Given the description of an element on the screen output the (x, y) to click on. 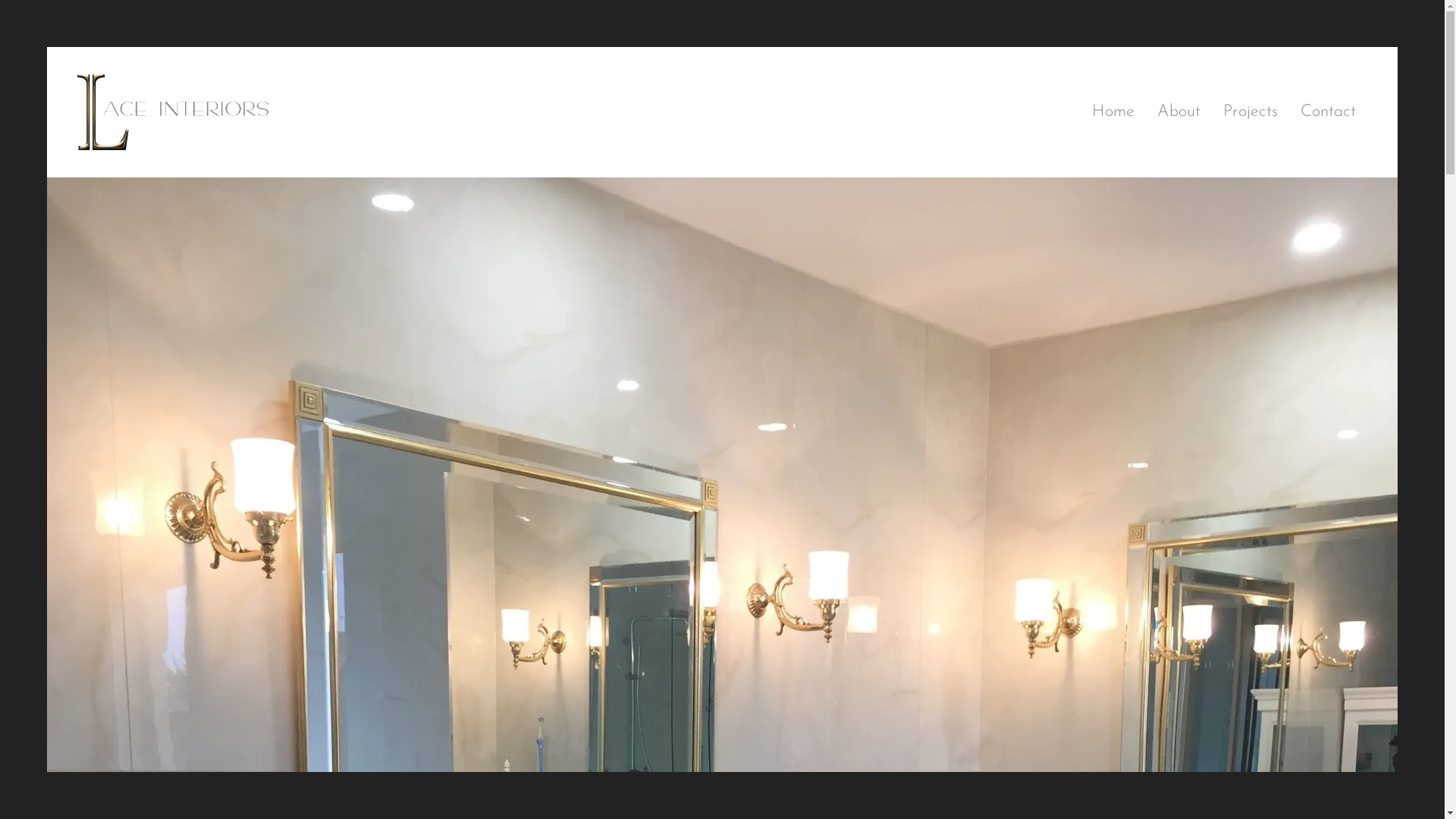
Projects Element type: text (1250, 112)
Home Element type: text (1112, 112)
About Element type: text (1178, 112)
Contact Element type: text (1328, 112)
